Given the description of an element on the screen output the (x, y) to click on. 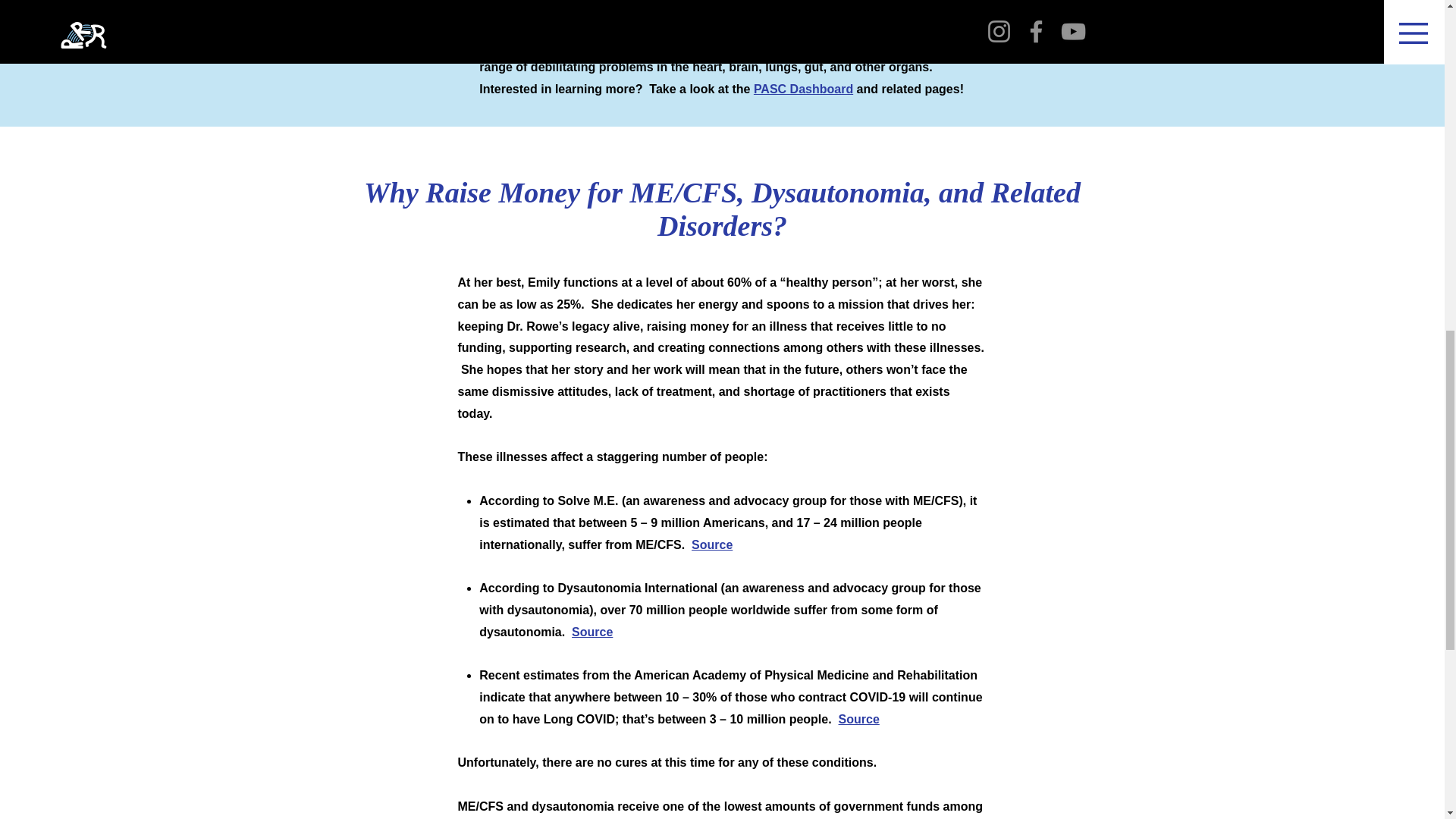
PASC Dashboard (803, 88)
Source (711, 544)
Source (858, 718)
Source (592, 631)
